Given the description of an element on the screen output the (x, y) to click on. 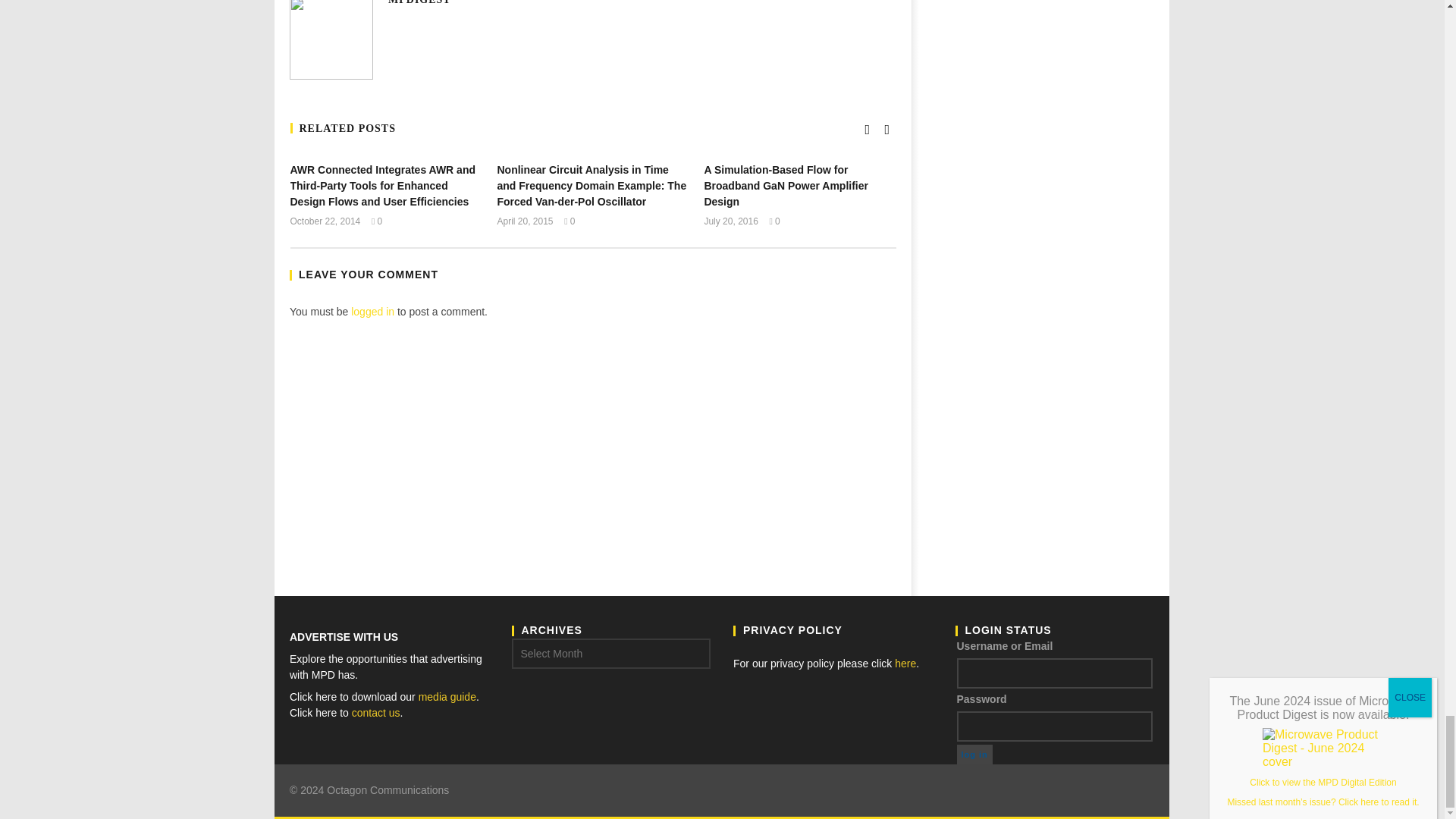
log in (974, 754)
